Given the description of an element on the screen output the (x, y) to click on. 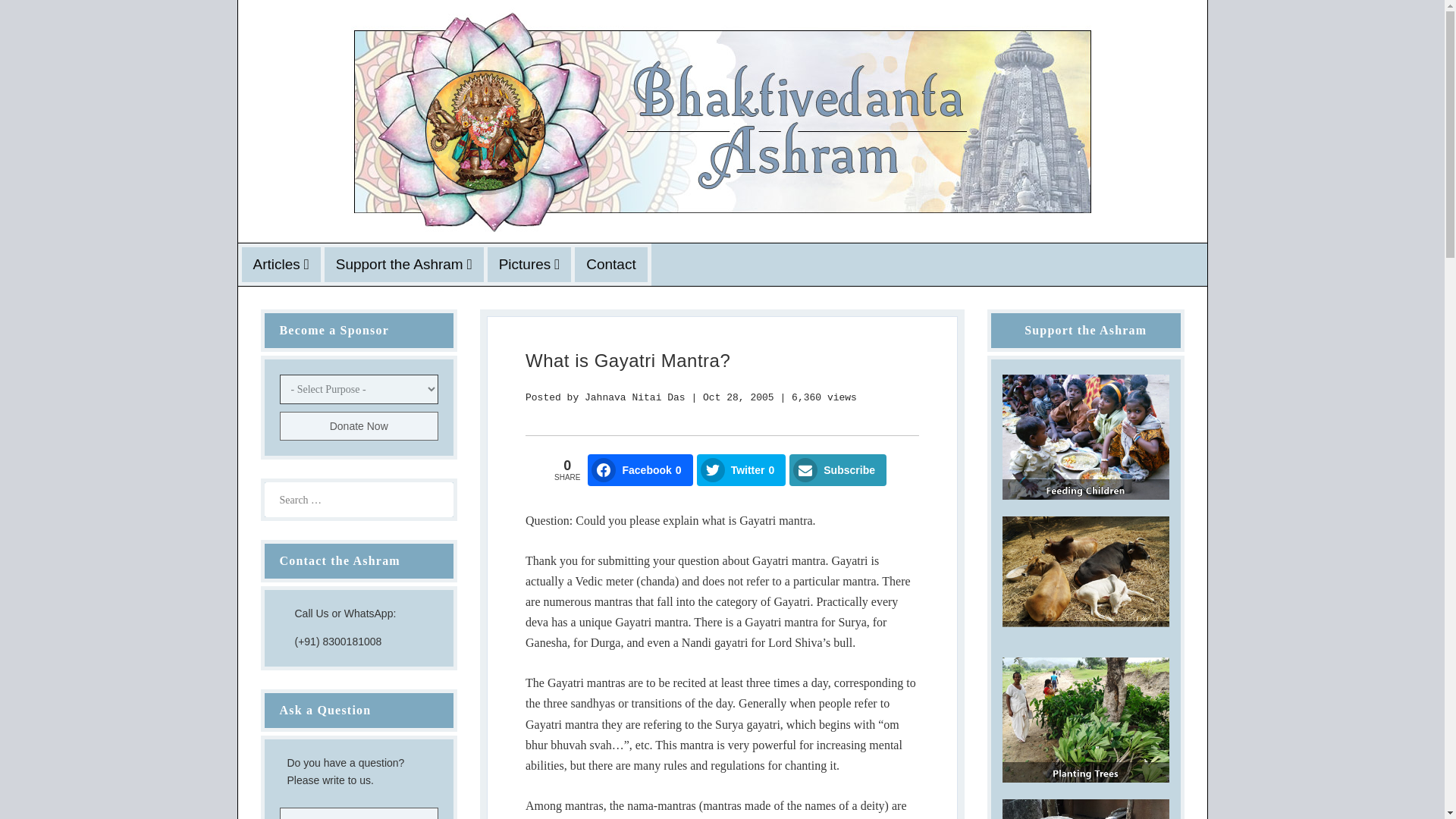
Articles (280, 264)
Twitter0 (741, 470)
Ask a Question (358, 813)
Jahnava Nitai Das (635, 397)
Pictures (529, 264)
Share on Facebook (640, 470)
Share on Twitter (741, 470)
Donate Now (358, 425)
Subscribe (837, 470)
Posts by Jahnava Nitai Das (635, 397)
Facebook0 (640, 470)
Contact (610, 264)
Support the Ashram (403, 264)
Share on Subscribe (837, 470)
Donate Now (358, 425)
